Given the description of an element on the screen output the (x, y) to click on. 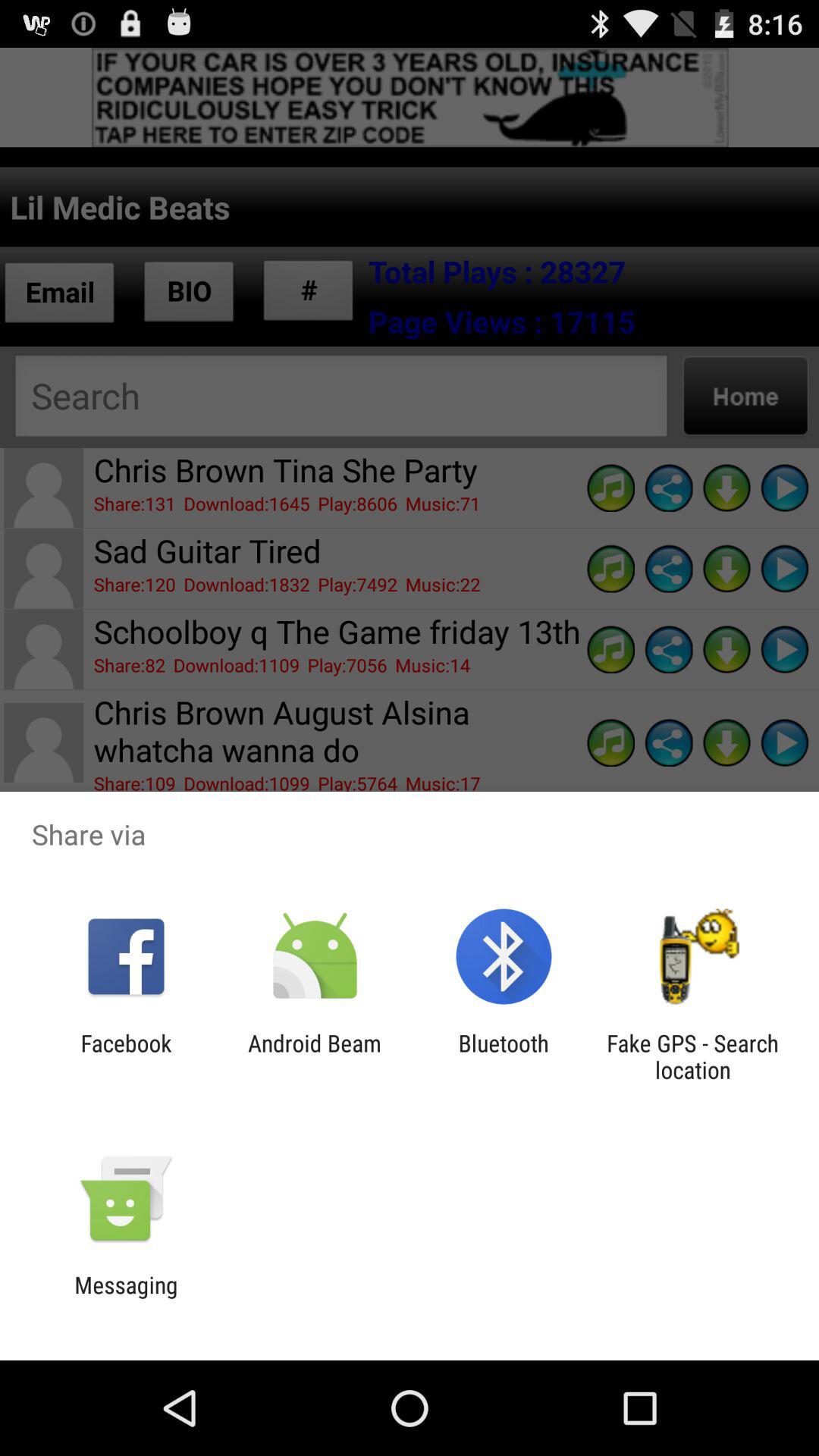
flip until the fake gps search icon (692, 1056)
